Given the description of an element on the screen output the (x, y) to click on. 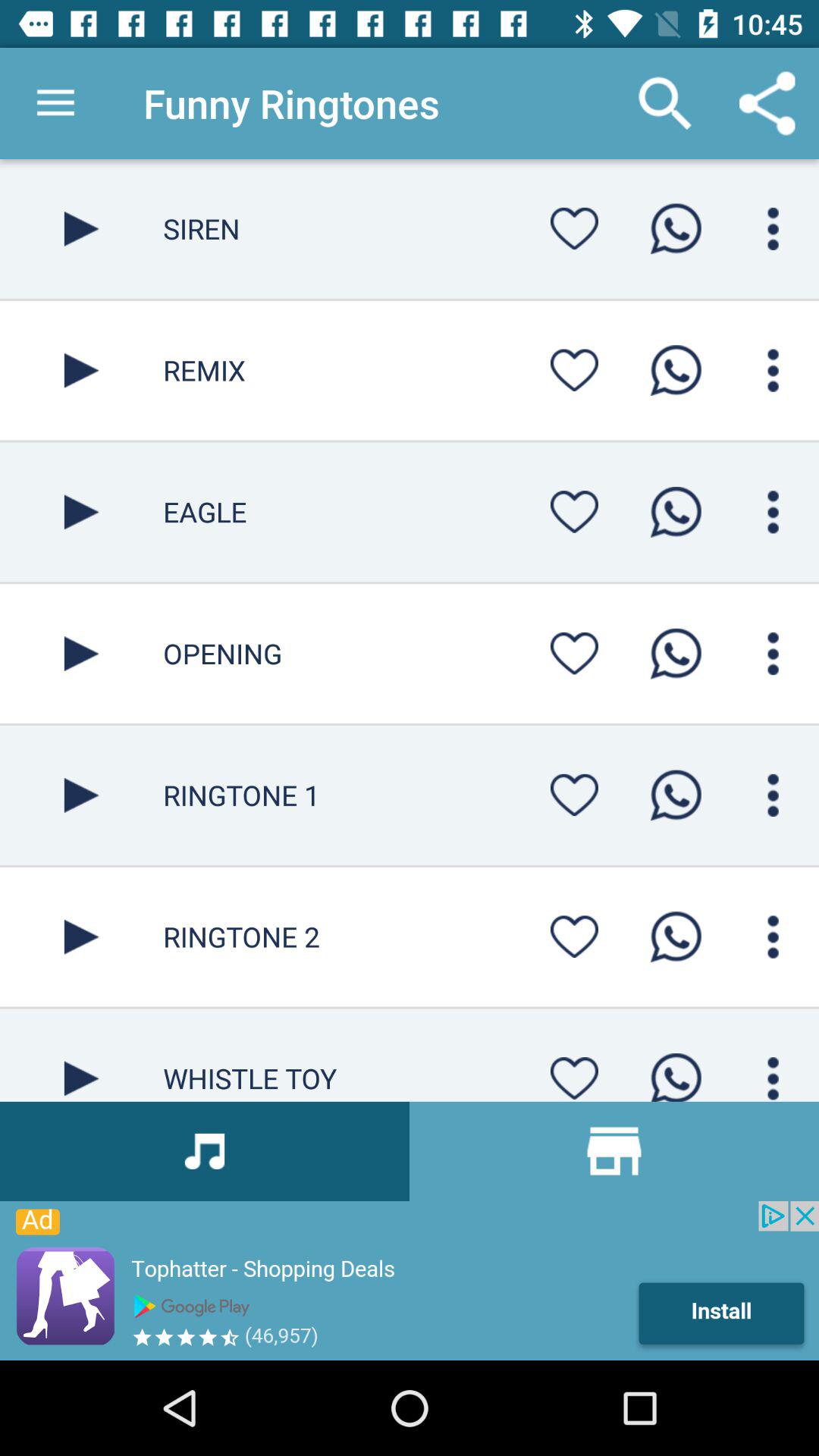
whatsapp option (675, 653)
